Given the description of an element on the screen output the (x, y) to click on. 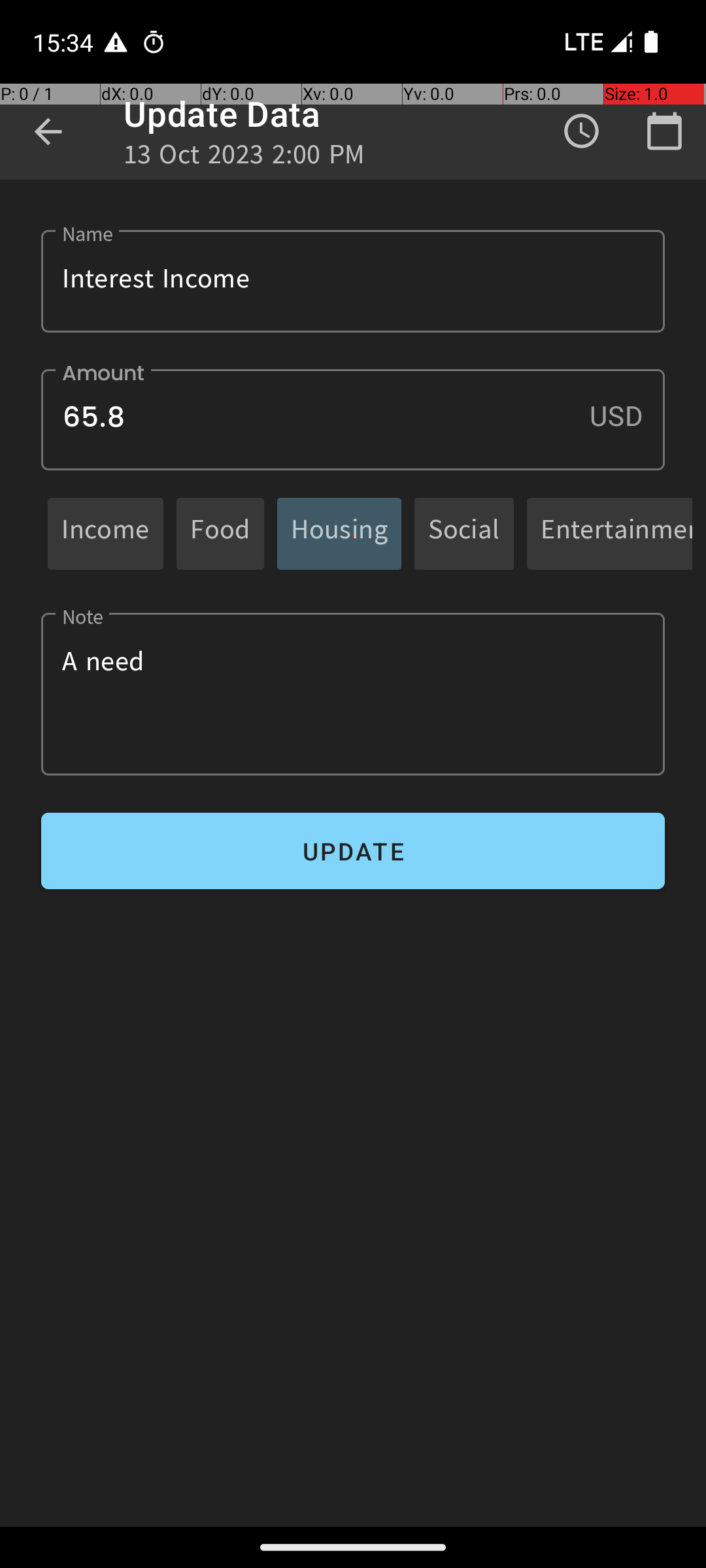
Update Data Element type: android.widget.TextView (221, 113)
13 Oct 2023 2:00 PM Element type: android.widget.TextView (244, 157)
Interest Income Element type: android.widget.EditText (352, 280)
65.8 Element type: android.widget.EditText (352, 419)
A need Element type: android.widget.EditText (352, 693)
UPDATE Element type: android.widget.Button (352, 850)
